Given the description of an element on the screen output the (x, y) to click on. 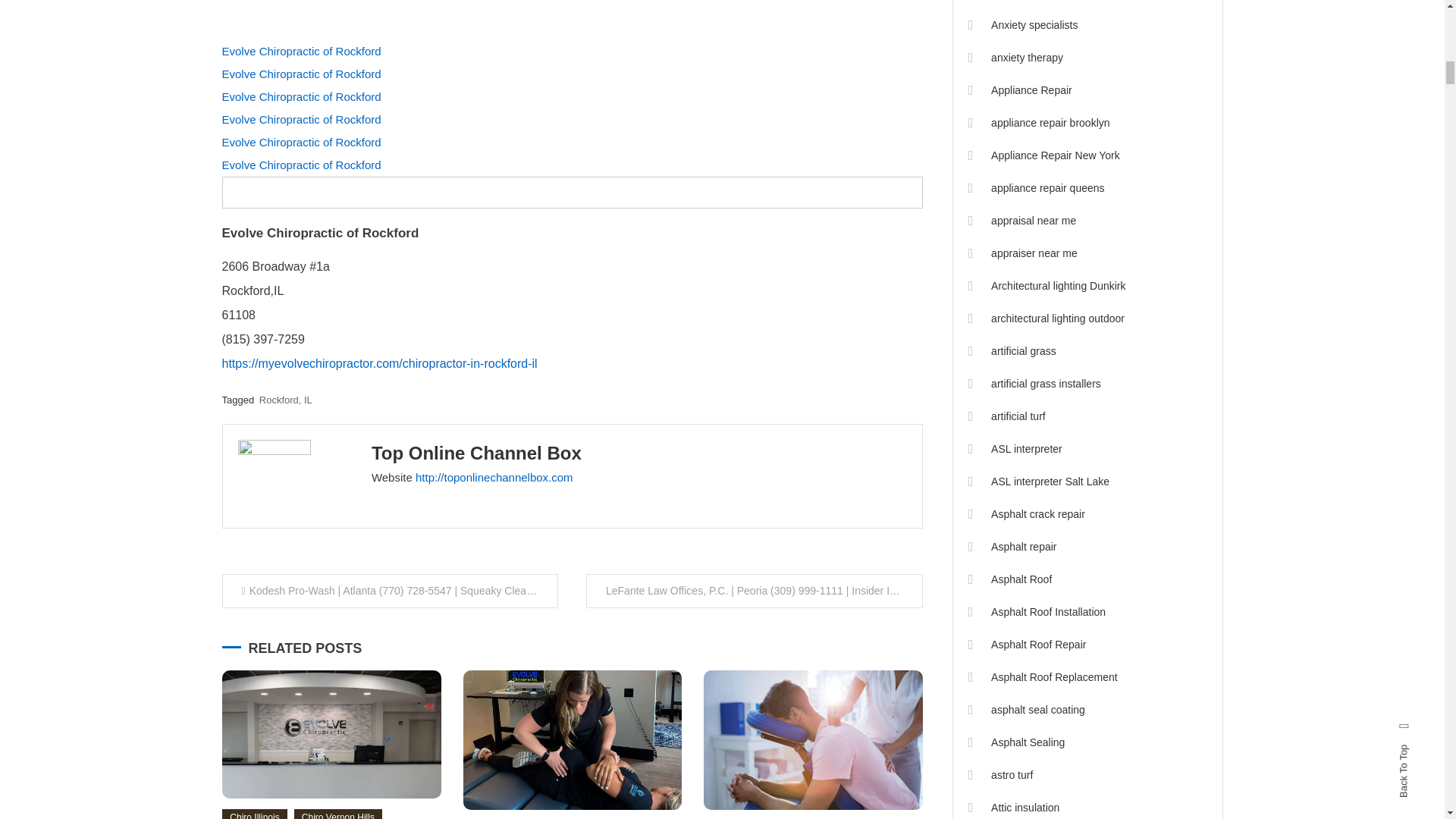
Posts by Top Online Channel Box (475, 453)
